Given the description of an element on the screen output the (x, y) to click on. 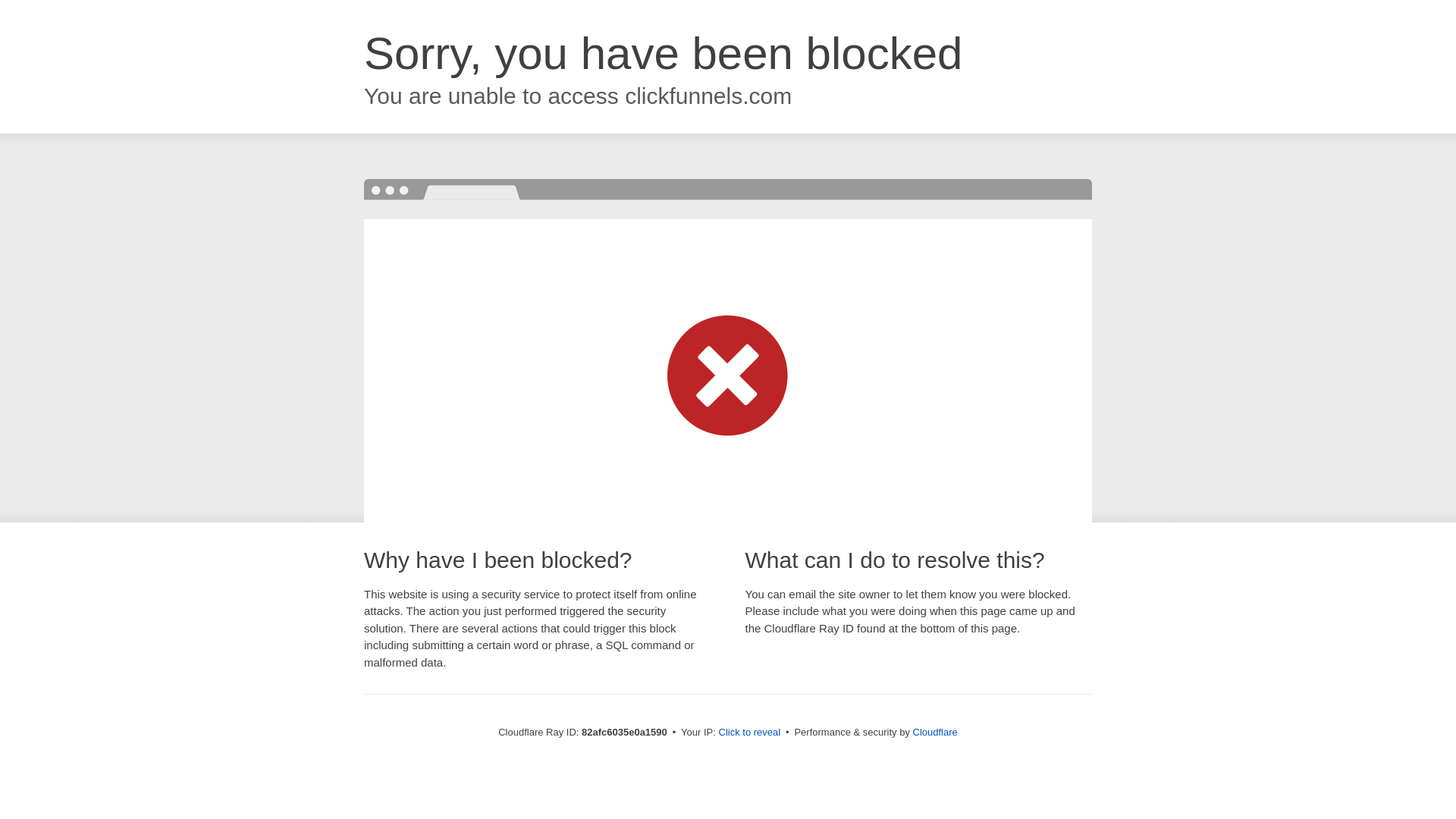
Cloudflare Element type: text (935, 731)
Click to reveal Element type: text (749, 732)
